Given the description of an element on the screen output the (x, y) to click on. 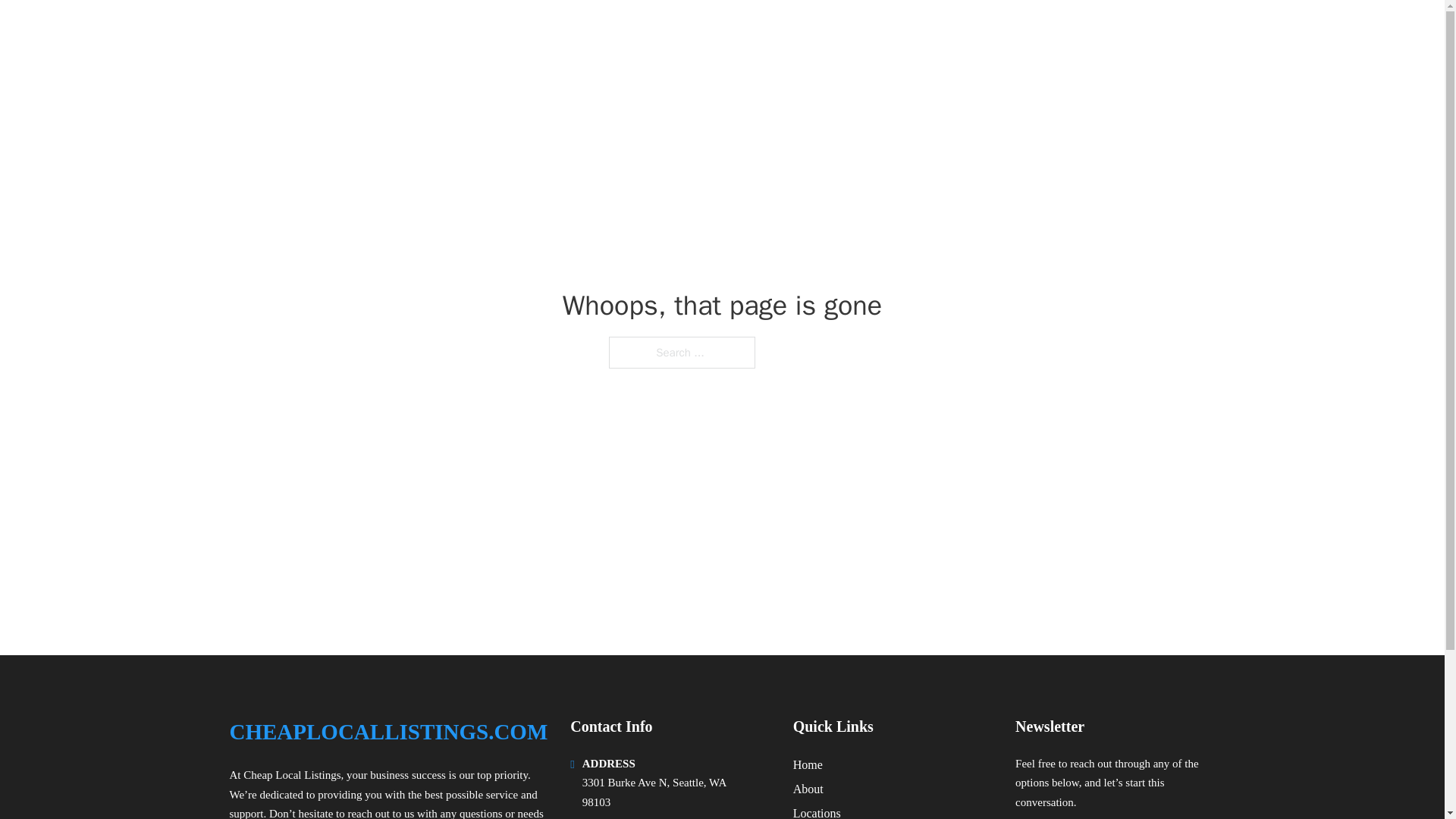
Home (807, 764)
CHEAPLOCALLISTINGS.COM (387, 732)
About (808, 788)
Locations (817, 811)
LOCATIONS (1098, 31)
HOME (1025, 31)
CHEAPLOCALLISTINGS.COM (403, 31)
